Given the description of an element on the screen output the (x, y) to click on. 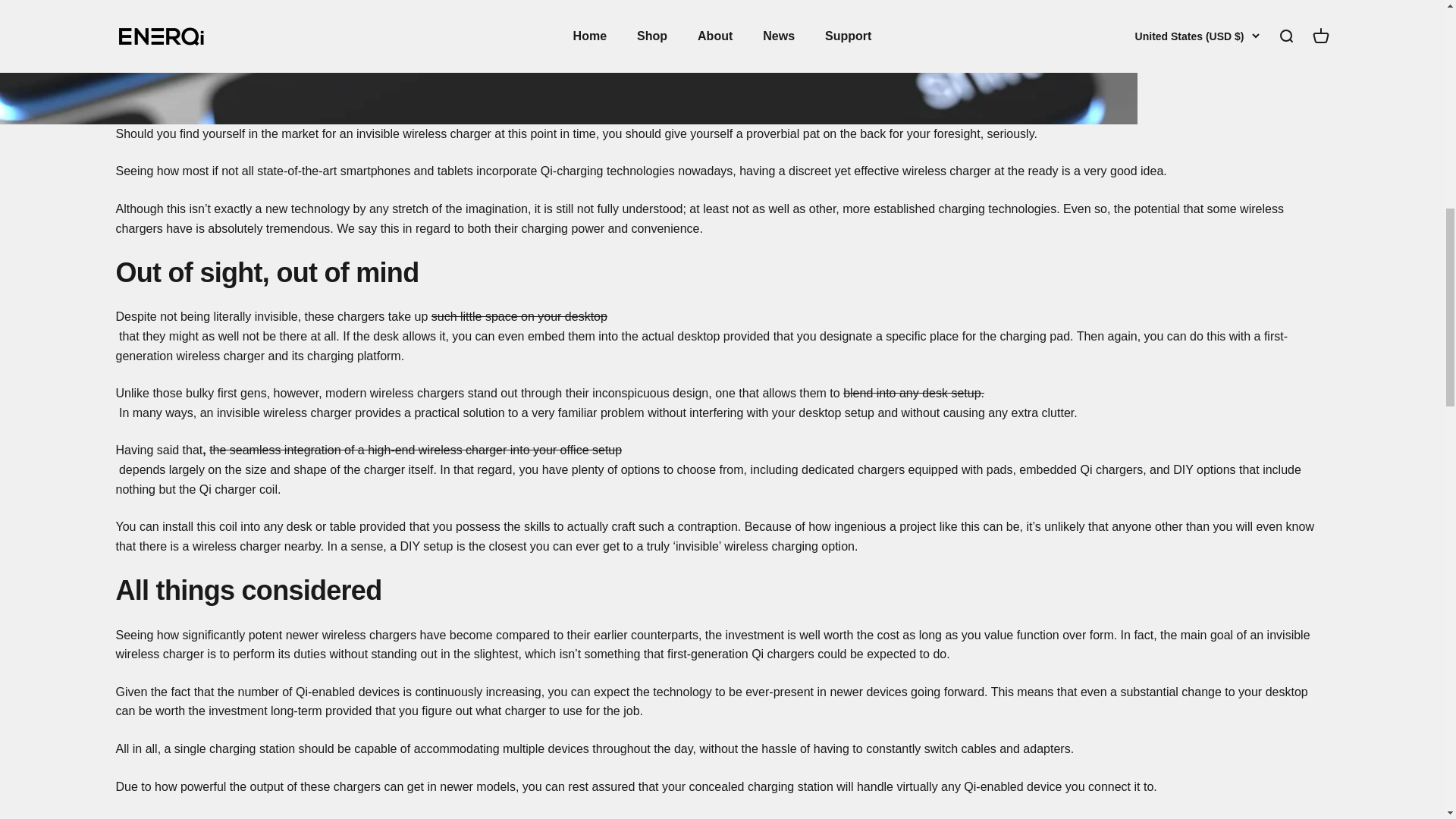
hidden wireless desk charger (518, 316)
the pros and cons of hidden wireless desk chargers (415, 449)
truly hidden wireless charger (913, 392)
